Given the description of an element on the screen output the (x, y) to click on. 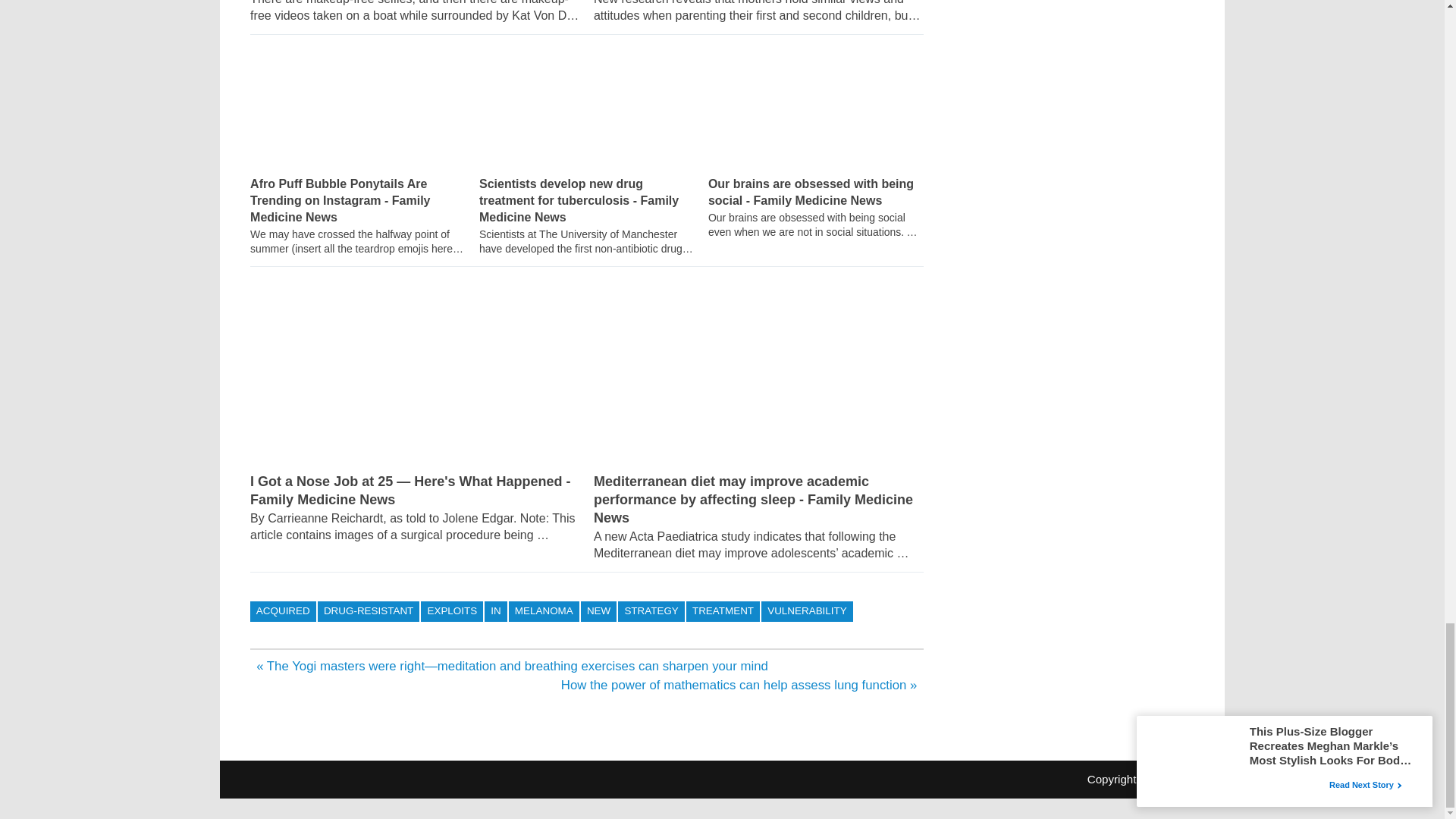
DRUG-RESISTANT (368, 611)
ACQUIRED (282, 611)
